Given the description of an element on the screen output the (x, y) to click on. 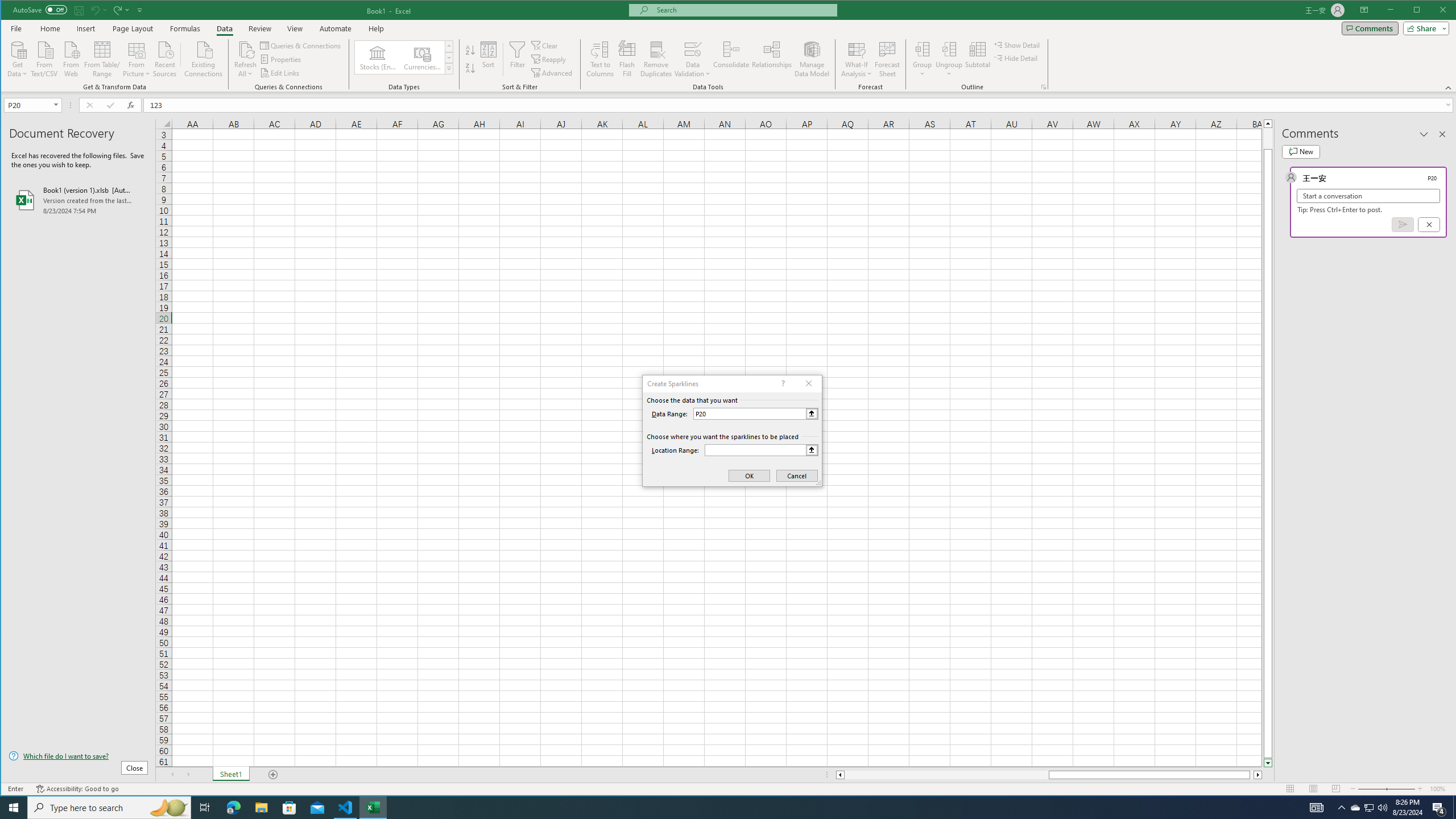
Remove Duplicates (655, 59)
Edit Links (279, 72)
Sort Smallest to Largest (470, 49)
Show Detail (1017, 44)
From Picture (136, 57)
Currencies (English) (422, 57)
Page left (946, 774)
Filter (517, 59)
Advanced... (552, 72)
Hide Detail (1016, 57)
